Given the description of an element on the screen output the (x, y) to click on. 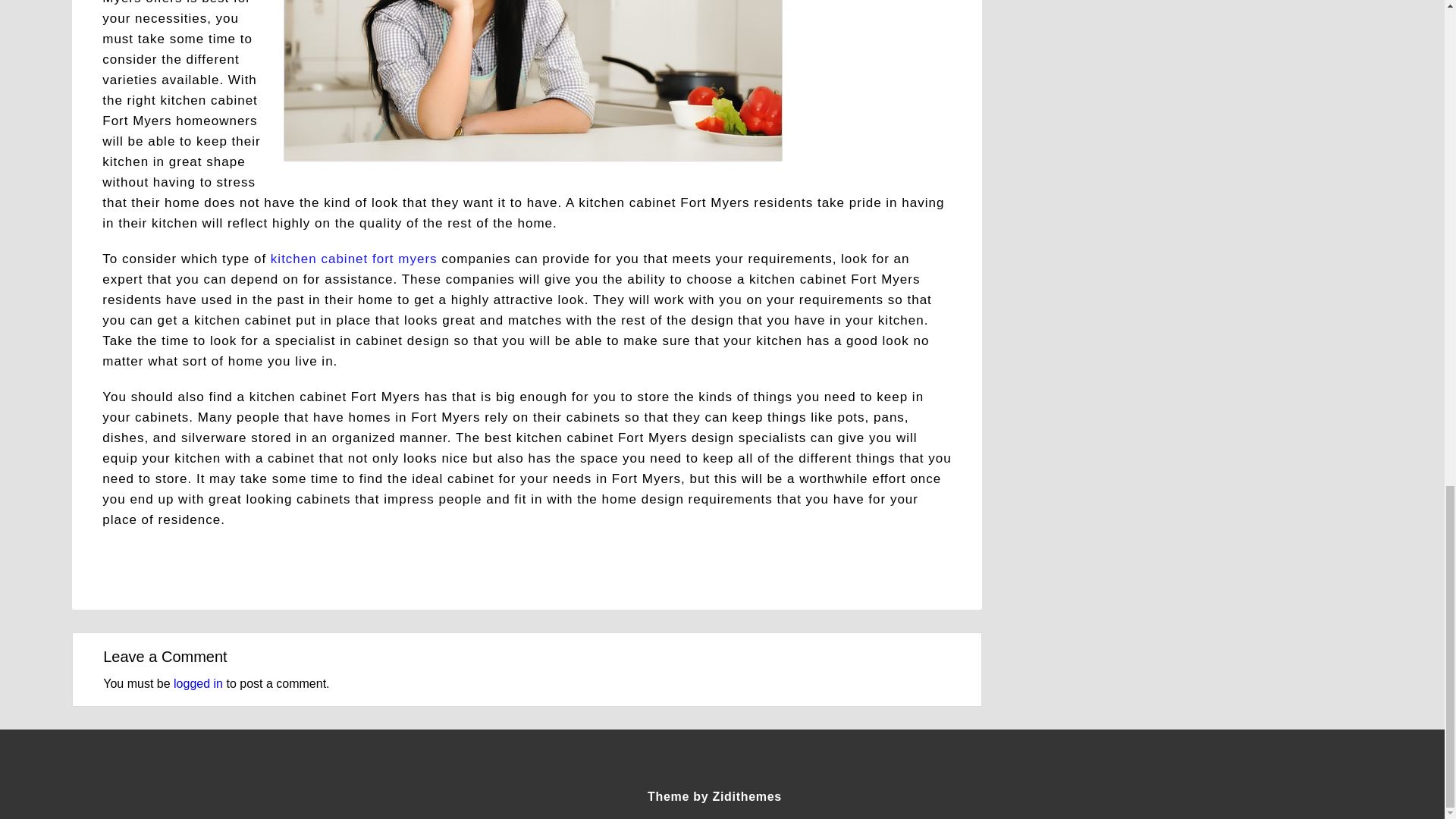
kitchen cabinet fort myers (354, 258)
Kitchen cabinet fort myers, Kitchen cabinet fort myers (354, 258)
Theme by Zidithemes (714, 796)
logged in (197, 683)
